Given the description of an element on the screen output the (x, y) to click on. 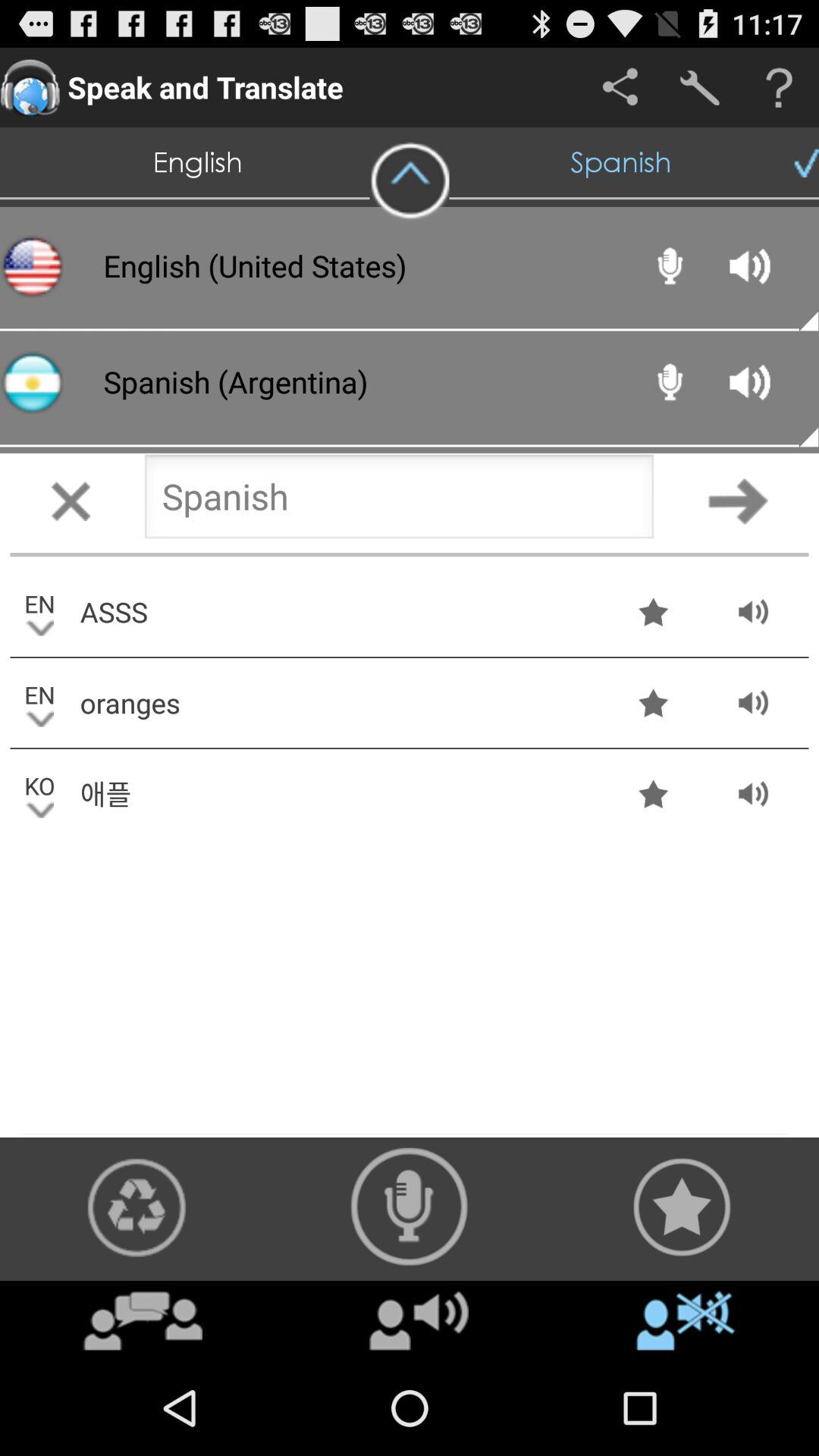
add to favorites (682, 1206)
